Given the description of an element on the screen output the (x, y) to click on. 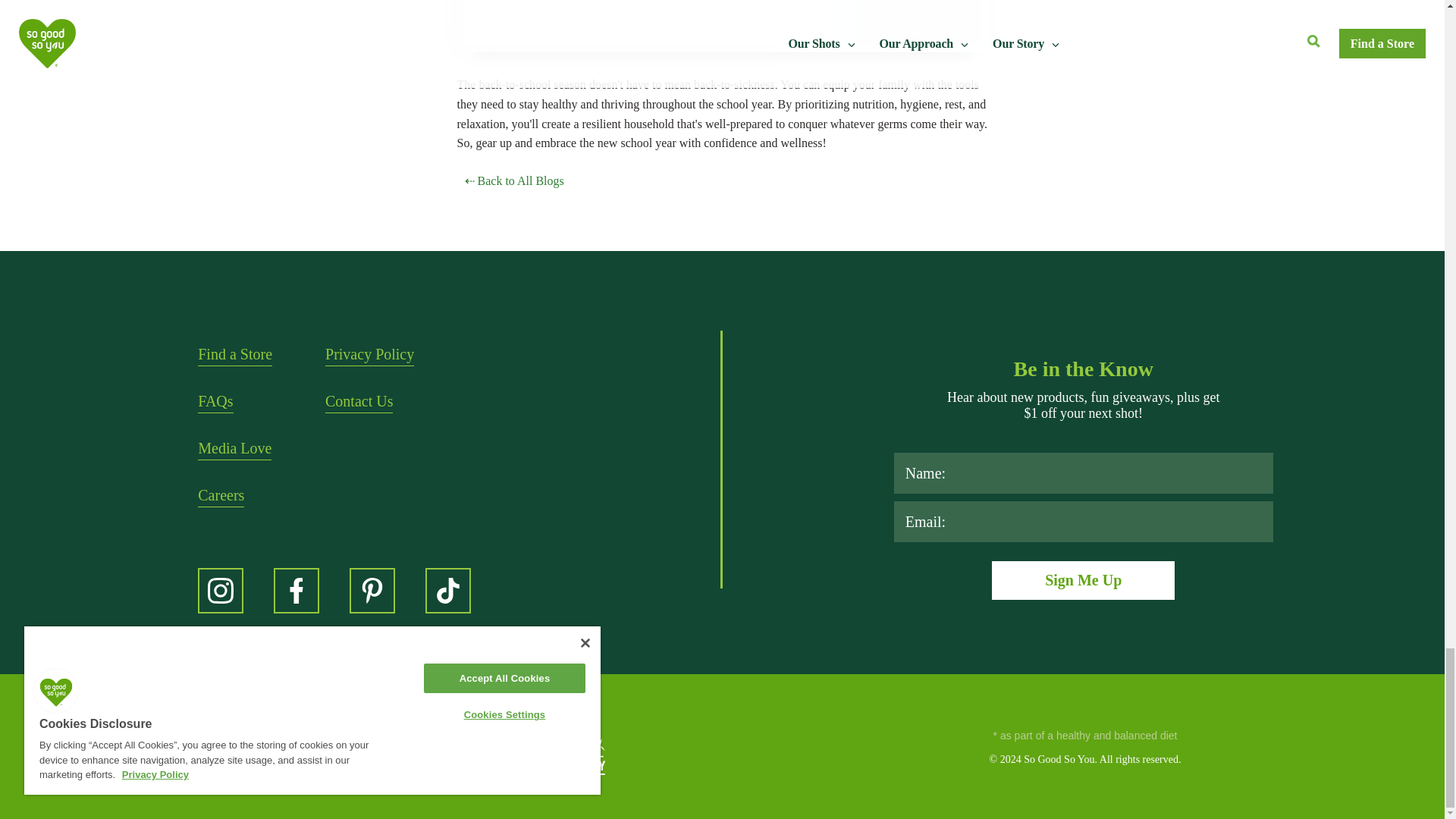
Sign me up (1082, 580)
